Given the description of an element on the screen output the (x, y) to click on. 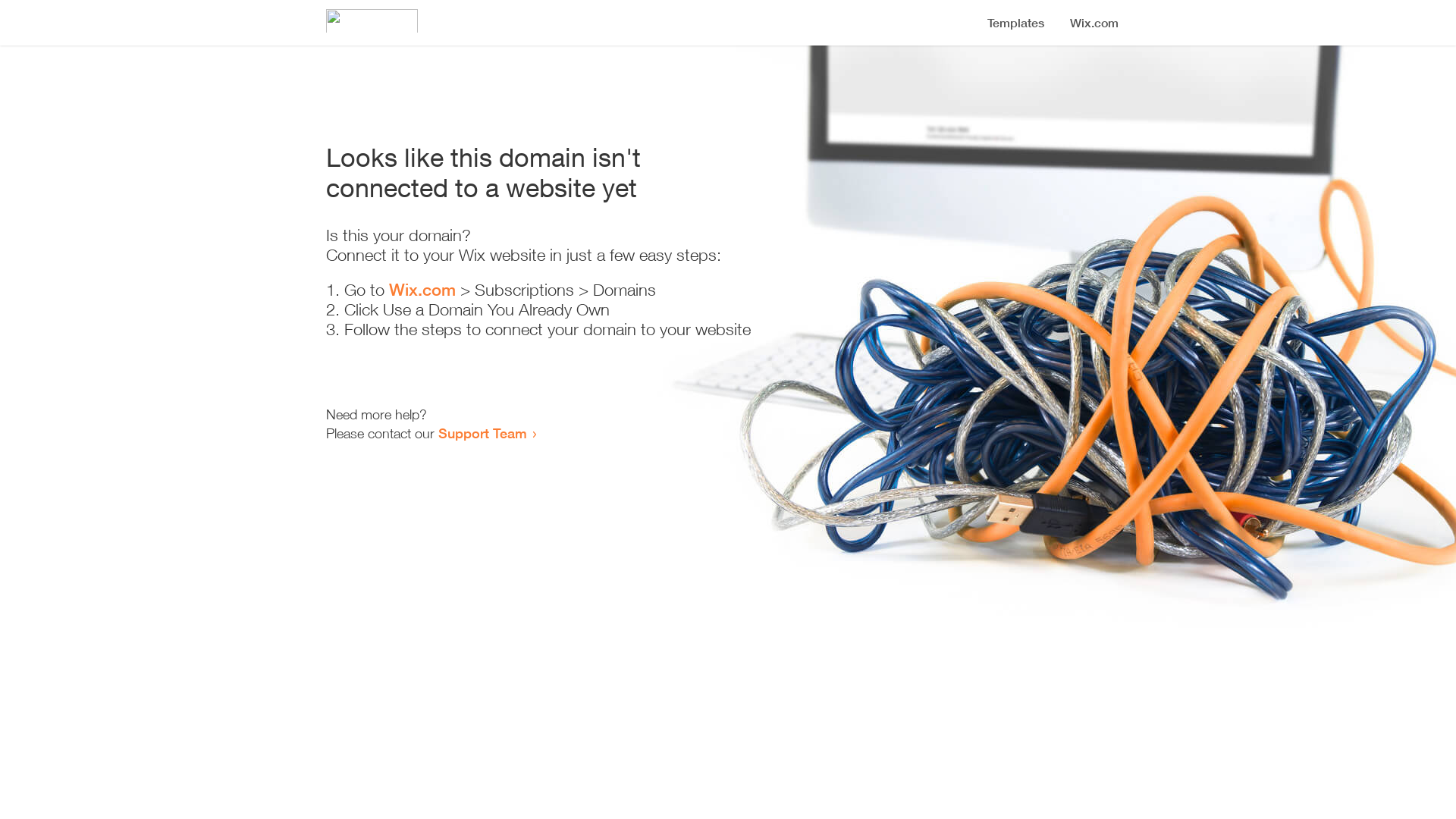
Support Team Element type: text (482, 432)
Wix.com Element type: text (422, 289)
